Given the description of an element on the screen output the (x, y) to click on. 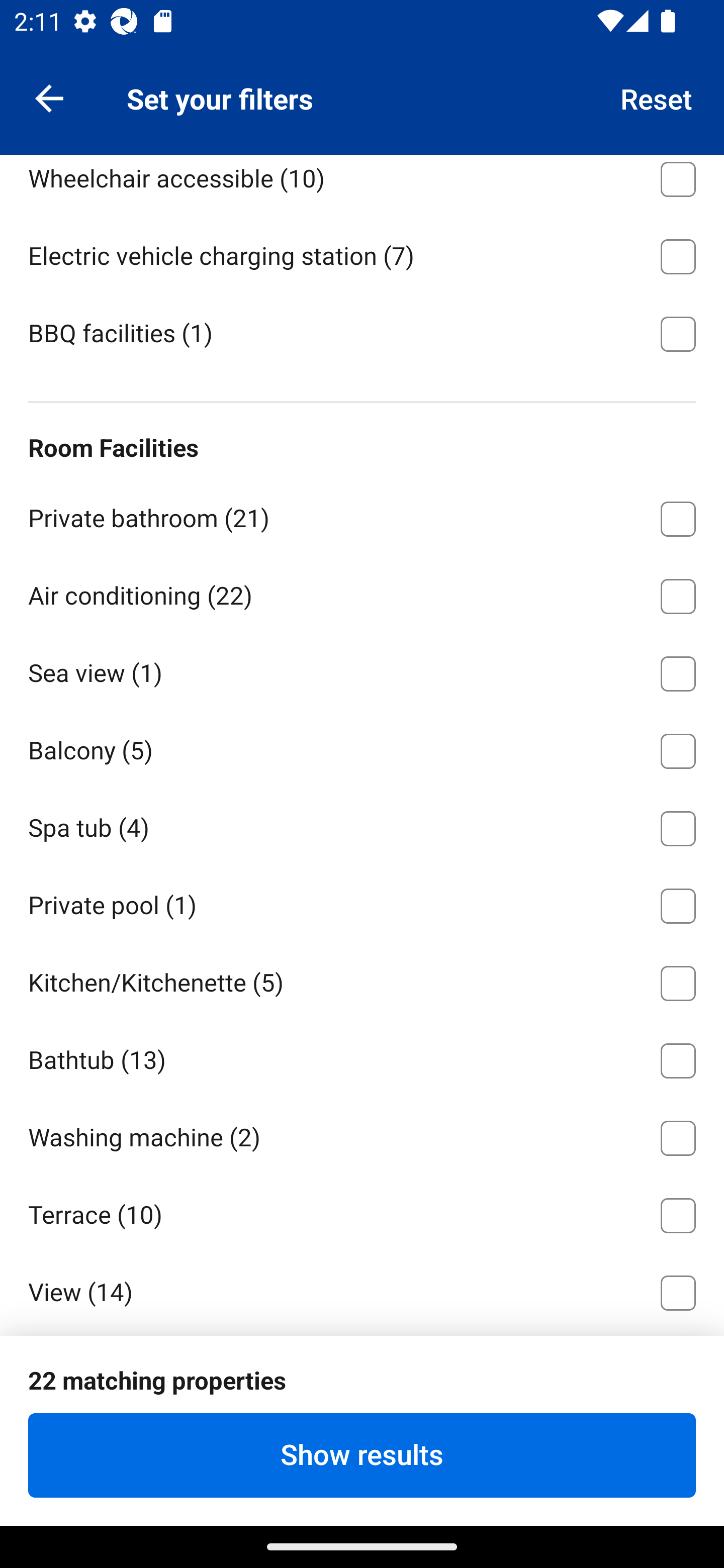
Navigate up (49, 97)
Family rooms ⁦(15) (361, 98)
Reset (656, 97)
Wheelchair accessible ⁦(10) (361, 184)
Electric vehicle charging station ⁦(7) (361, 252)
BBQ facilities ⁦(1) (361, 332)
Private bathroom ⁦(21) (361, 515)
Air conditioning ⁦(22) (361, 593)
Sea view ⁦(1) (361, 669)
Balcony ⁦(5) (361, 747)
Spa tub ⁦(4) (361, 825)
Private pool ⁦(1) (361, 901)
Kitchen/Kitchenette ⁦(5) (361, 979)
Bathtub ⁦(13) (361, 1057)
Washing machine ⁦(2) (361, 1134)
Terrace ⁦(10) (361, 1211)
View ⁦(14) (361, 1289)
Show results (361, 1454)
